Given the description of an element on the screen output the (x, y) to click on. 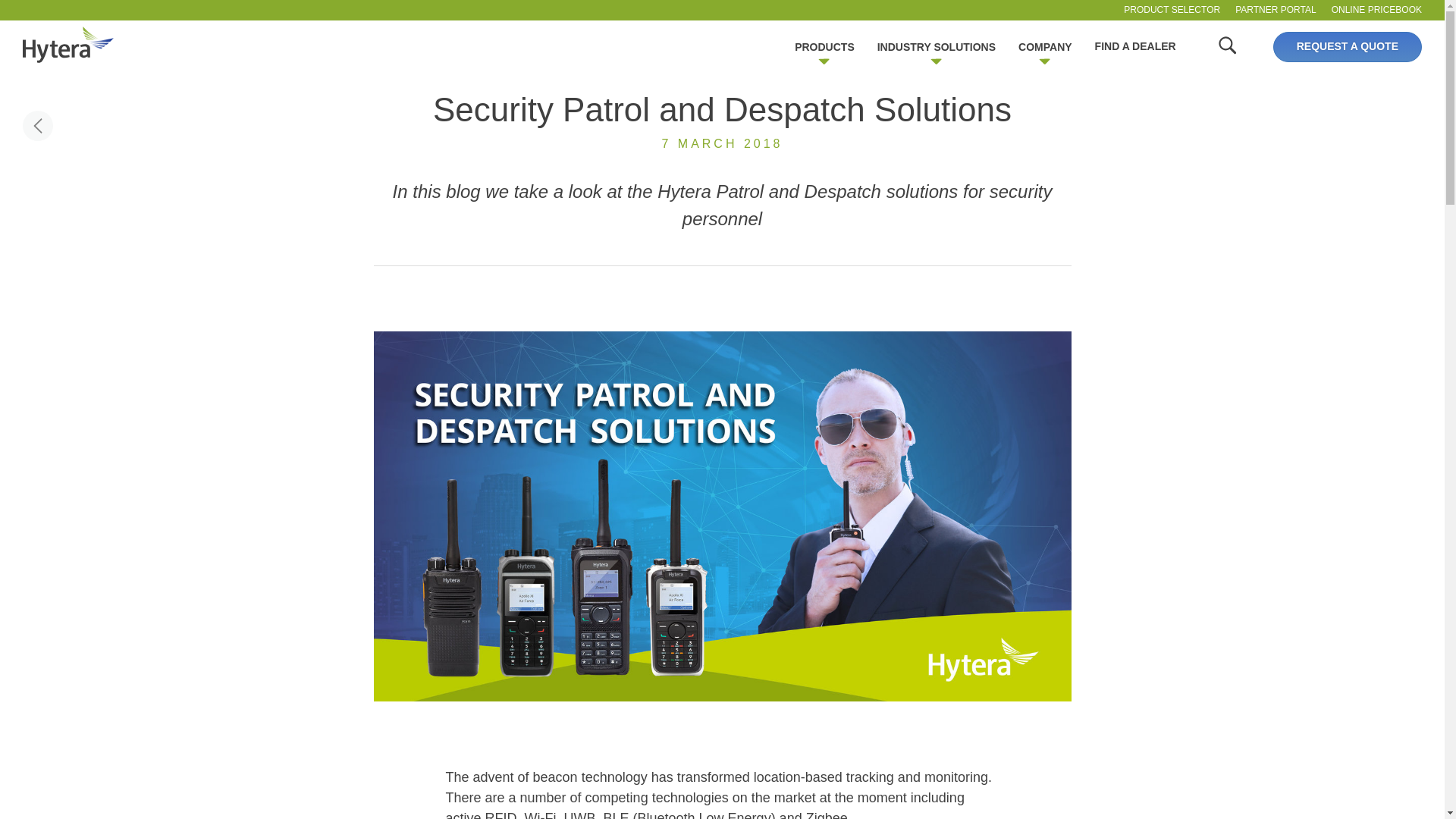
PRODUCT SELECTOR (1172, 10)
PARTNER PORTAL (1275, 10)
ONLINE PRICEBOOK (1377, 10)
